Given the description of an element on the screen output the (x, y) to click on. 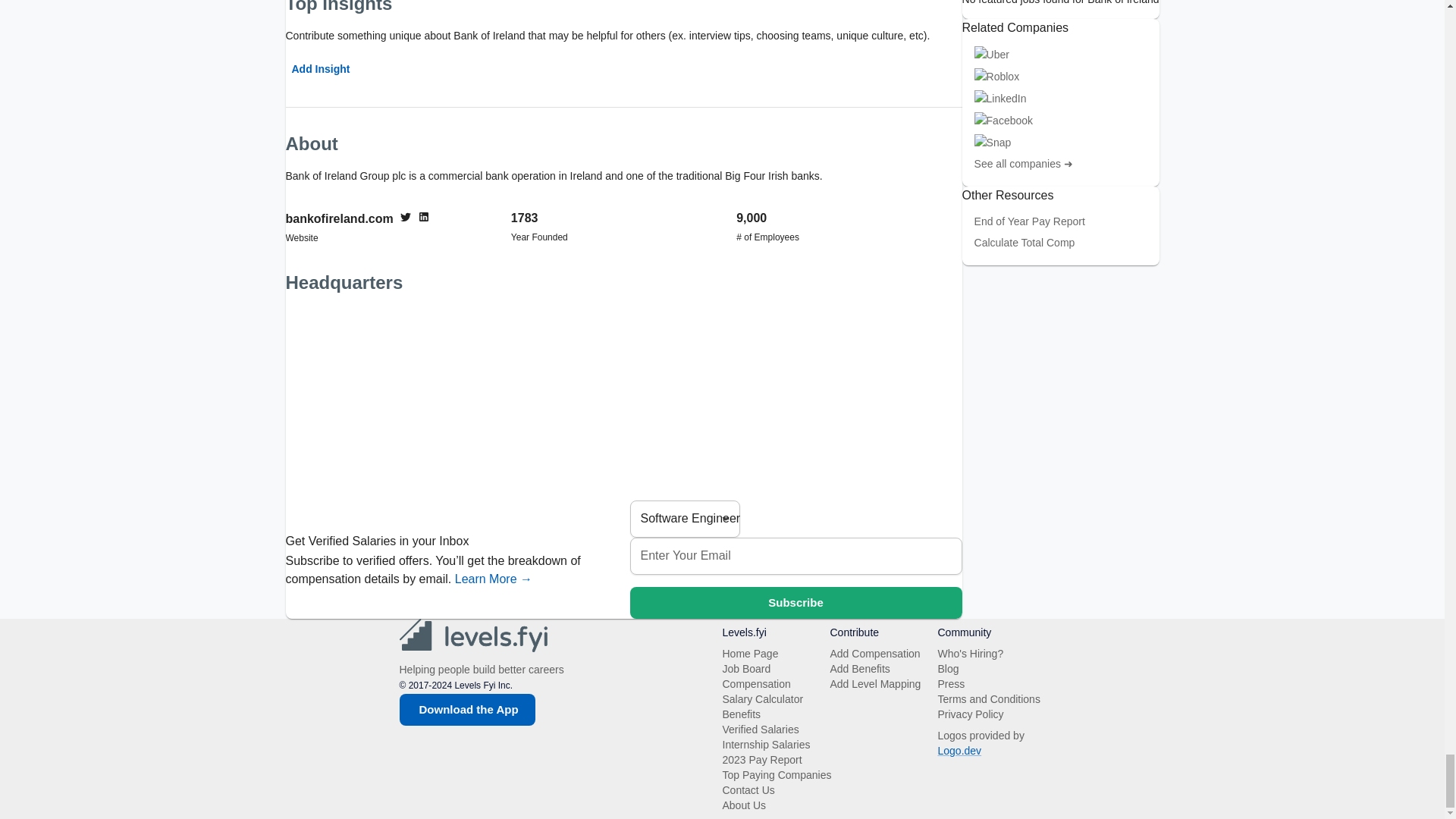
Company Address (622, 401)
